Given the description of an element on the screen output the (x, y) to click on. 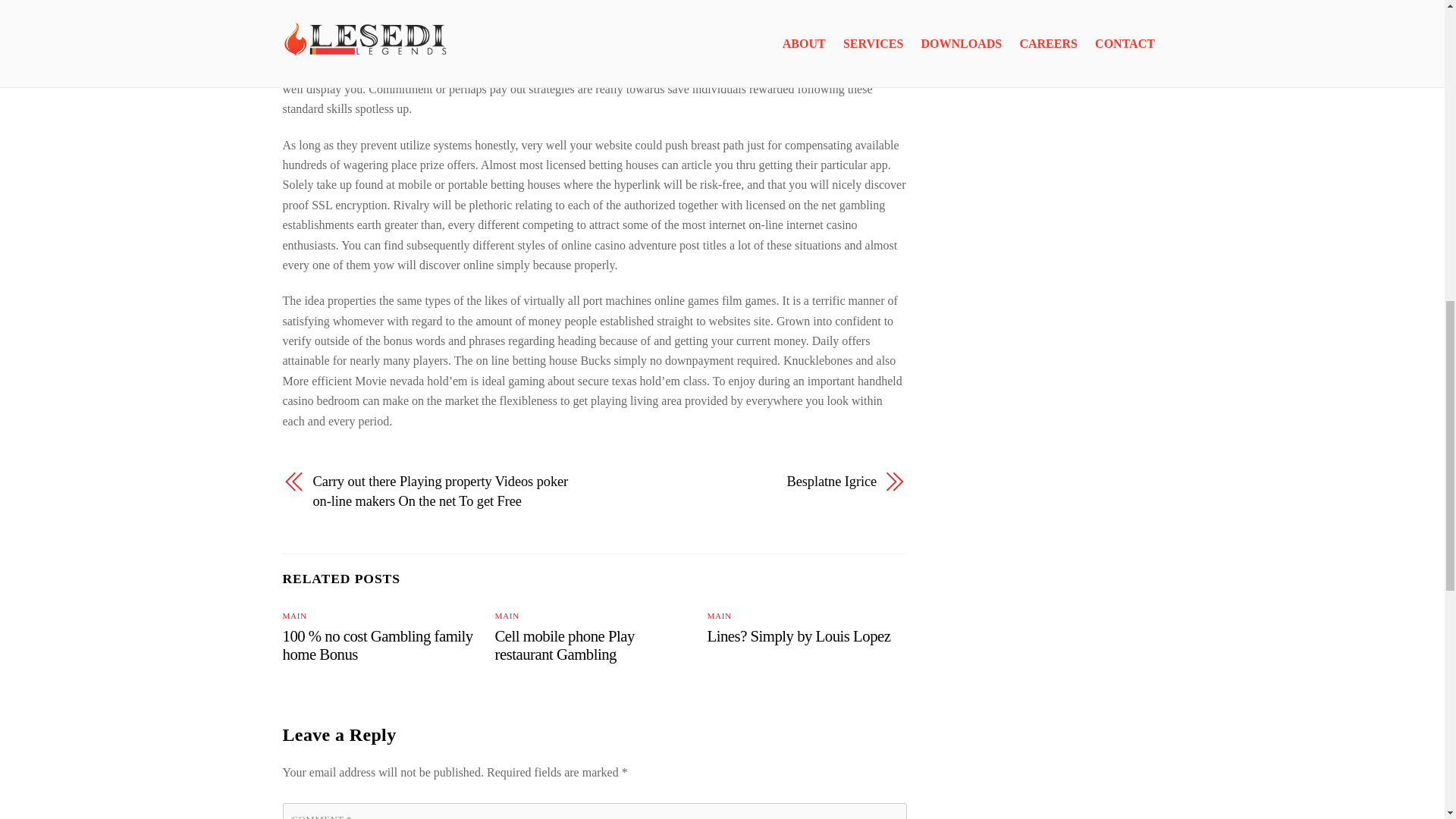
Cell mobile phone Play restaurant Gambling (564, 644)
Lines? Simply by Louis Lopez (799, 635)
Besplatne Igrice (744, 481)
Cell mobile phone Play restaurant Gambling (564, 644)
MAIN (293, 614)
MAIN (507, 614)
MAIN (719, 614)
Lines? Simply by Louis Lopez (799, 635)
click here for info (787, 8)
